Given the description of an element on the screen output the (x, y) to click on. 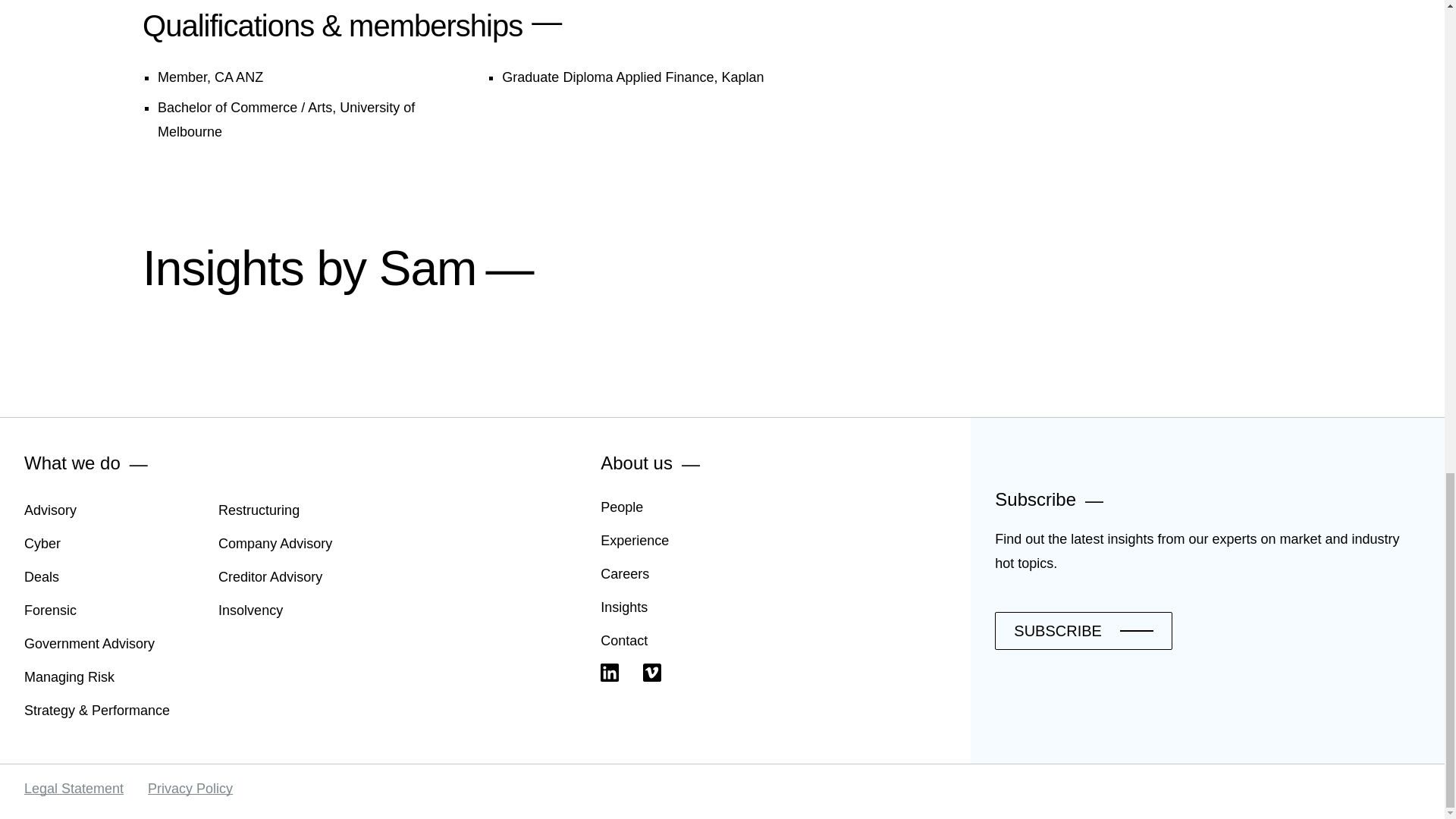
Deals (41, 576)
Button linking to  (1083, 630)
Careers (624, 573)
Insights (623, 607)
What we do (72, 462)
Contact (623, 640)
Restructuring (258, 509)
Company Advisory (274, 543)
Government Advisory (89, 643)
Cyber (42, 543)
LinkedIn (608, 672)
Advisory (50, 509)
Creditor Advisory (269, 576)
Managing Risk (69, 677)
People (621, 507)
